Given the description of an element on the screen output the (x, y) to click on. 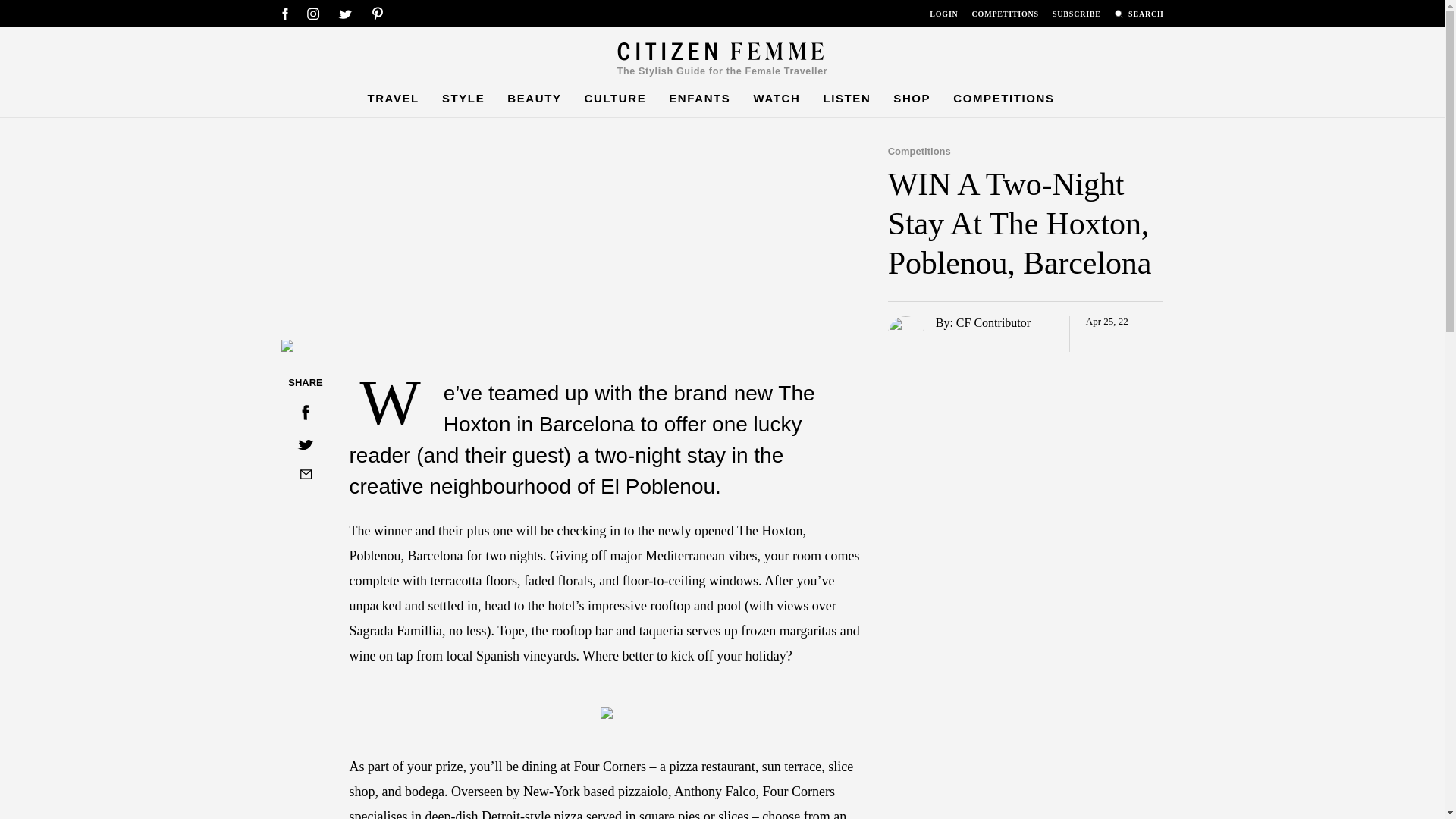
The Stylish Guide for the Female Traveller (722, 59)
COMPETITIONS (1005, 15)
LOGIN (944, 15)
TRAVEL (392, 97)
STYLE (463, 97)
